Given the description of an element on the screen output the (x, y) to click on. 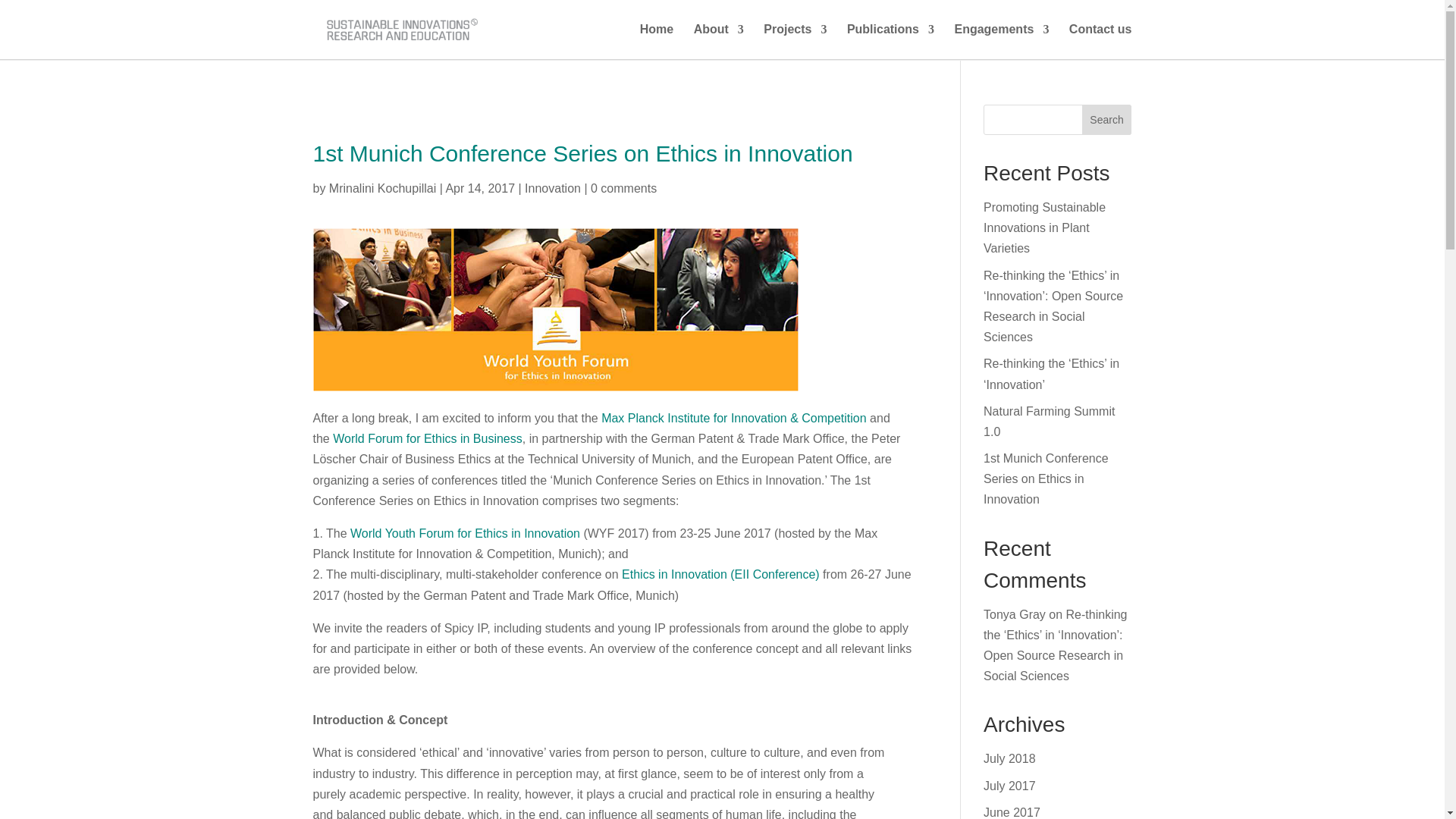
Search (1106, 119)
Publications (890, 41)
Home (656, 41)
Mrinalini Kochupillai (382, 187)
Contact us (1100, 41)
Posts by Mrinalini Kochupillai (382, 187)
Engagements (1000, 41)
About (719, 41)
Projects (794, 41)
